Given the description of an element on the screen output the (x, y) to click on. 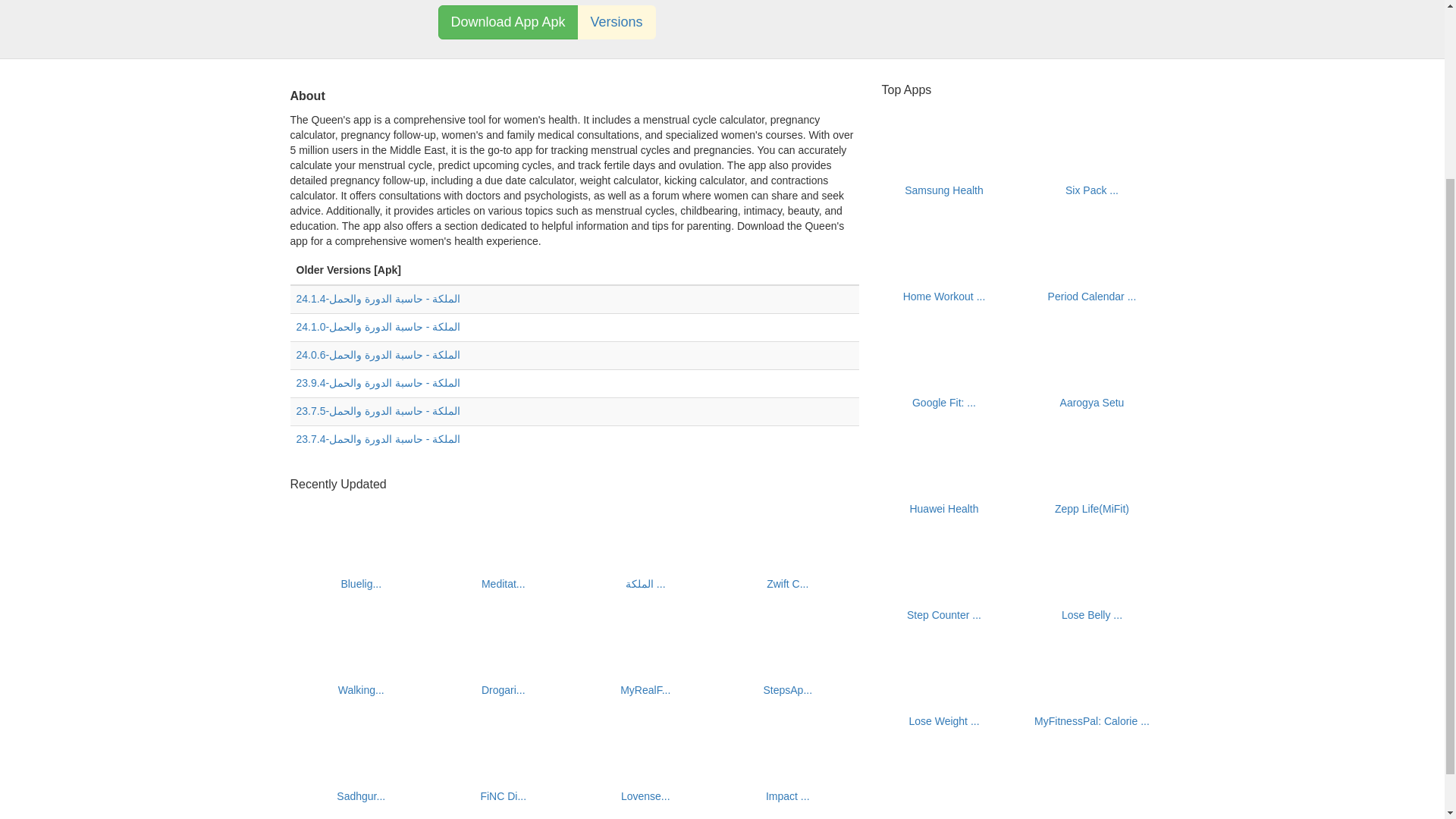
Lovense... (645, 796)
Impact ... (787, 796)
Drogari... (503, 689)
Walking... (360, 689)
MyRealF... (644, 689)
Bluelight Filter - Eye Care apk for android (360, 583)
FiNC Di... (502, 796)
Sadhgur... (360, 796)
Versions (617, 22)
Bluelig... (360, 583)
